Given the description of an element on the screen output the (x, y) to click on. 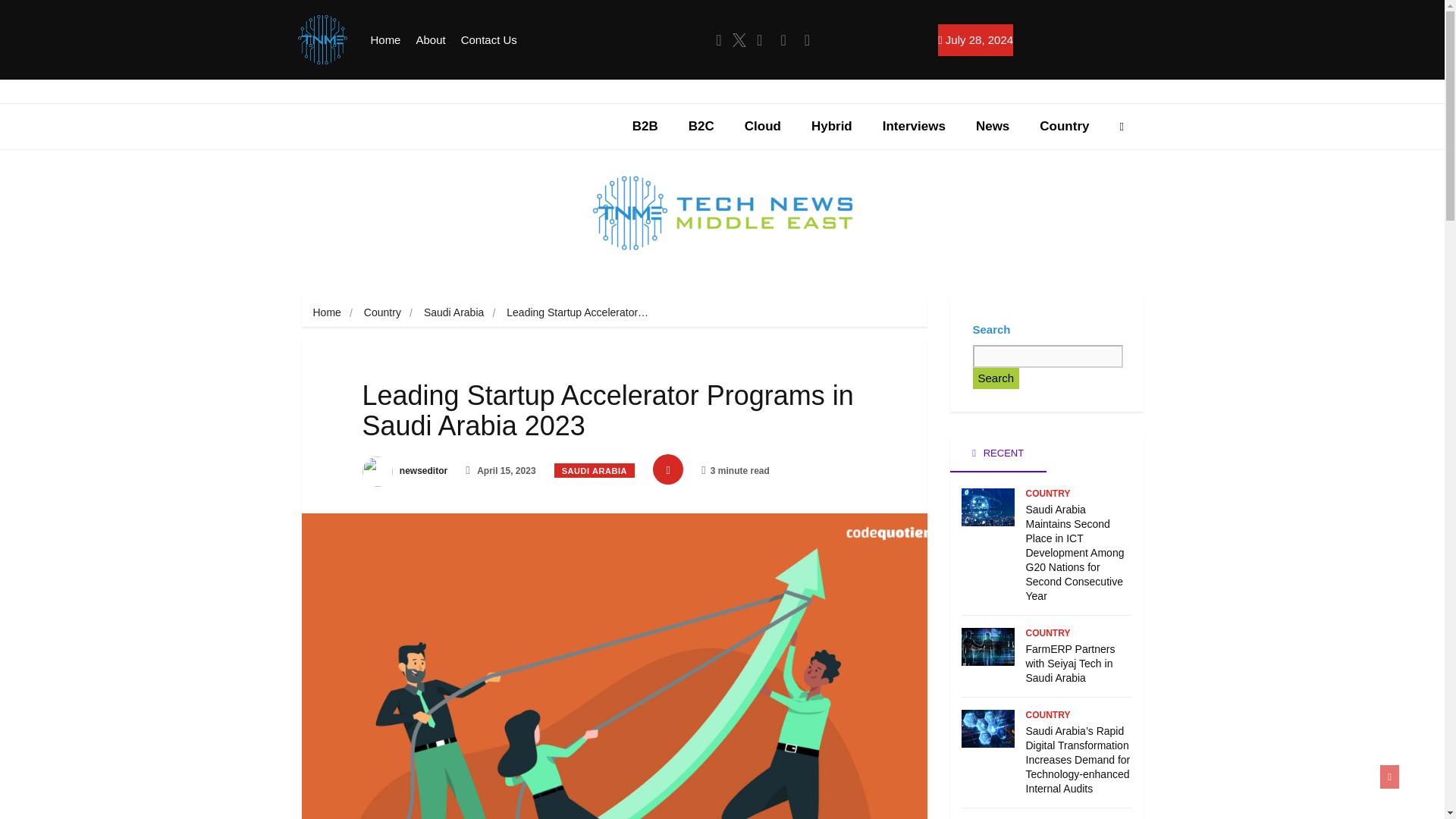
Home (326, 312)
Contact Us (488, 40)
About (429, 40)
B2B (644, 126)
Home (384, 40)
SAUDI ARABIA (594, 470)
Saudi Arabia (453, 312)
Country (1064, 126)
Interviews (913, 126)
News (992, 126)
newseditor (405, 470)
Hybrid (831, 126)
Country (382, 312)
B2C (700, 126)
Cloud (762, 126)
